Given the description of an element on the screen output the (x, y) to click on. 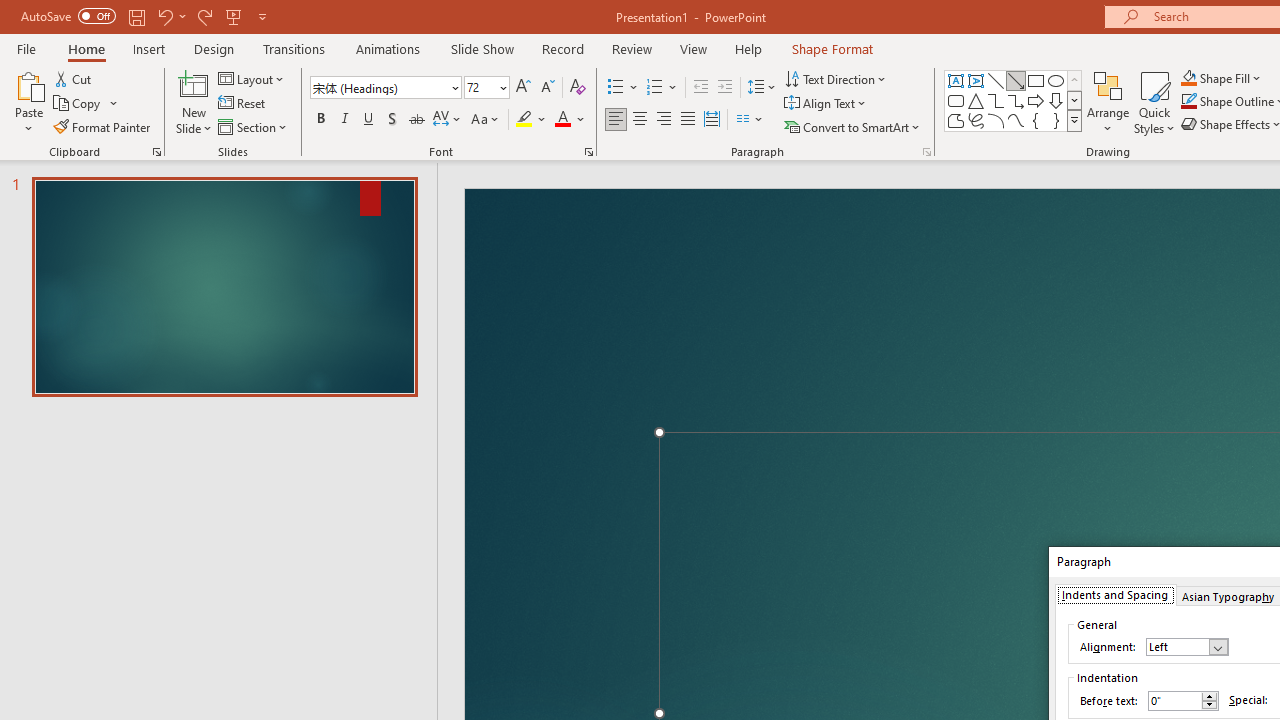
Before text (1174, 700)
